Given the description of an element on the screen output the (x, y) to click on. 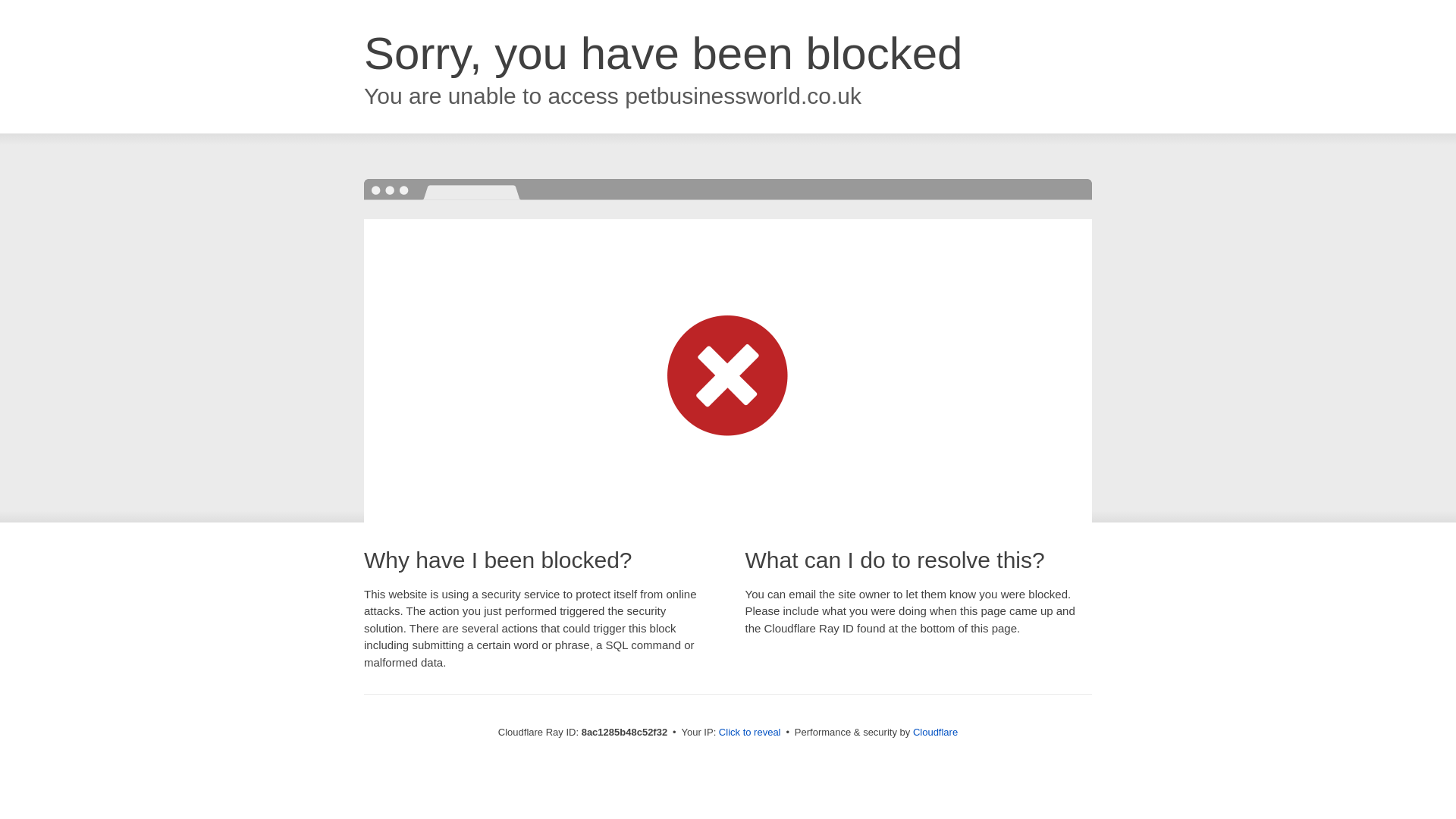
Click to reveal (749, 732)
Cloudflare (935, 731)
